Given the description of an element on the screen output the (x, y) to click on. 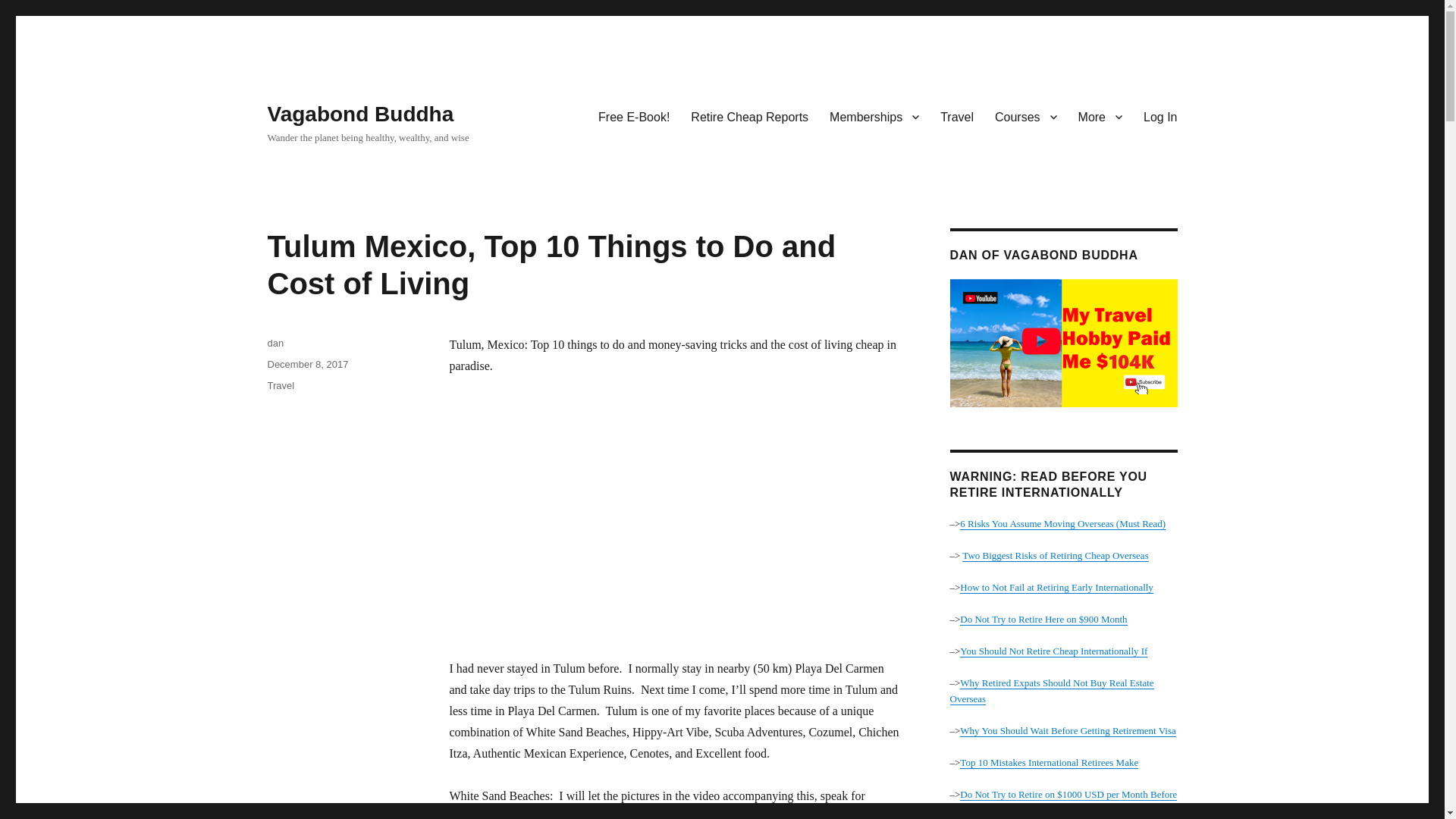
Memberships (874, 116)
Travel (957, 116)
Log In (1160, 116)
Dan of Vagabond Buddha (1062, 343)
Courses (1025, 116)
Retire Cheap Reports (748, 116)
Vagabond Buddha (359, 114)
More (1099, 116)
Free E-Book! (633, 116)
